Given the description of an element on the screen output the (x, y) to click on. 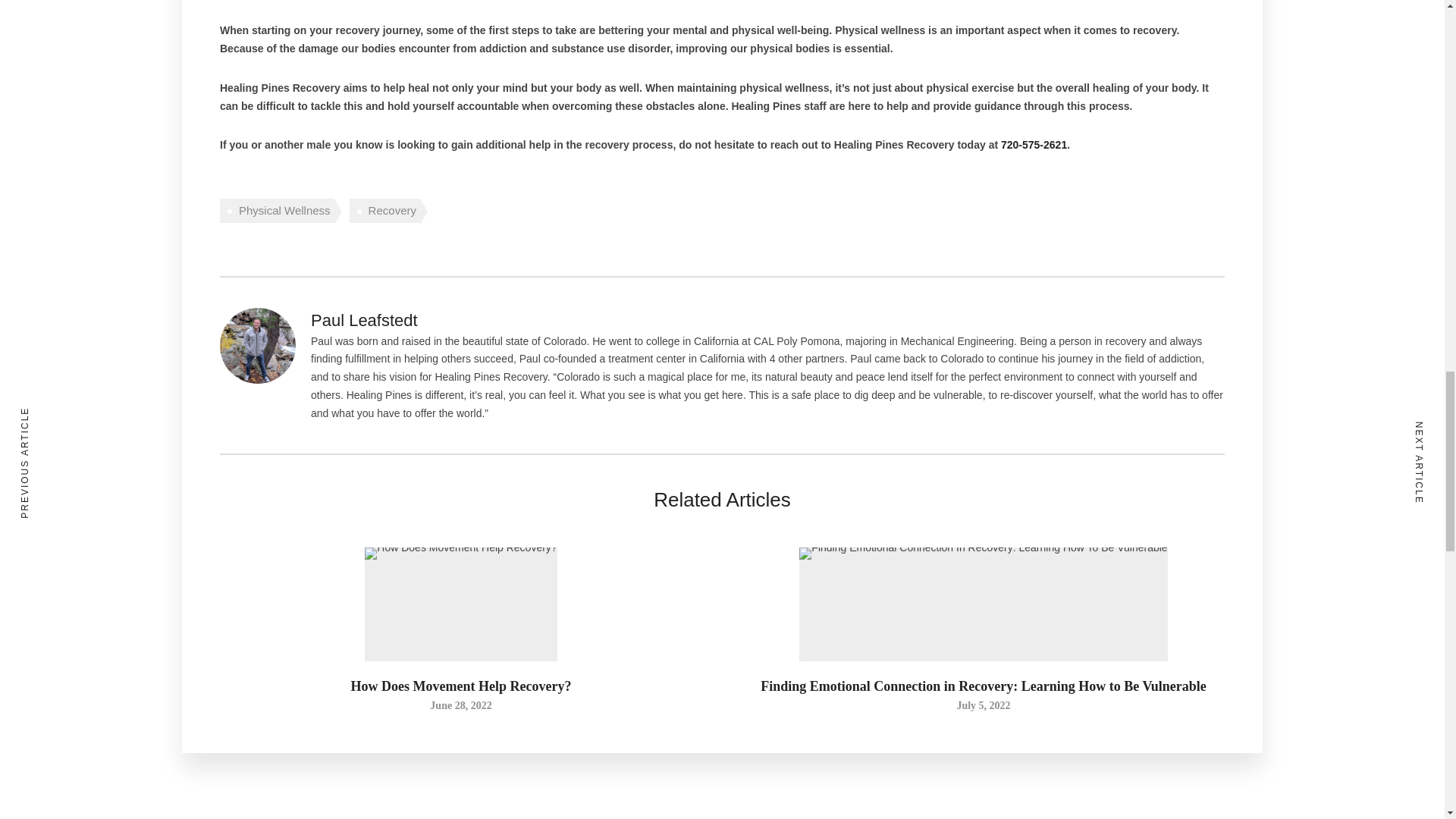
How Does Movement Help Recovery? (460, 705)
How Does Movement Help Recovery? (461, 685)
